Given the description of an element on the screen output the (x, y) to click on. 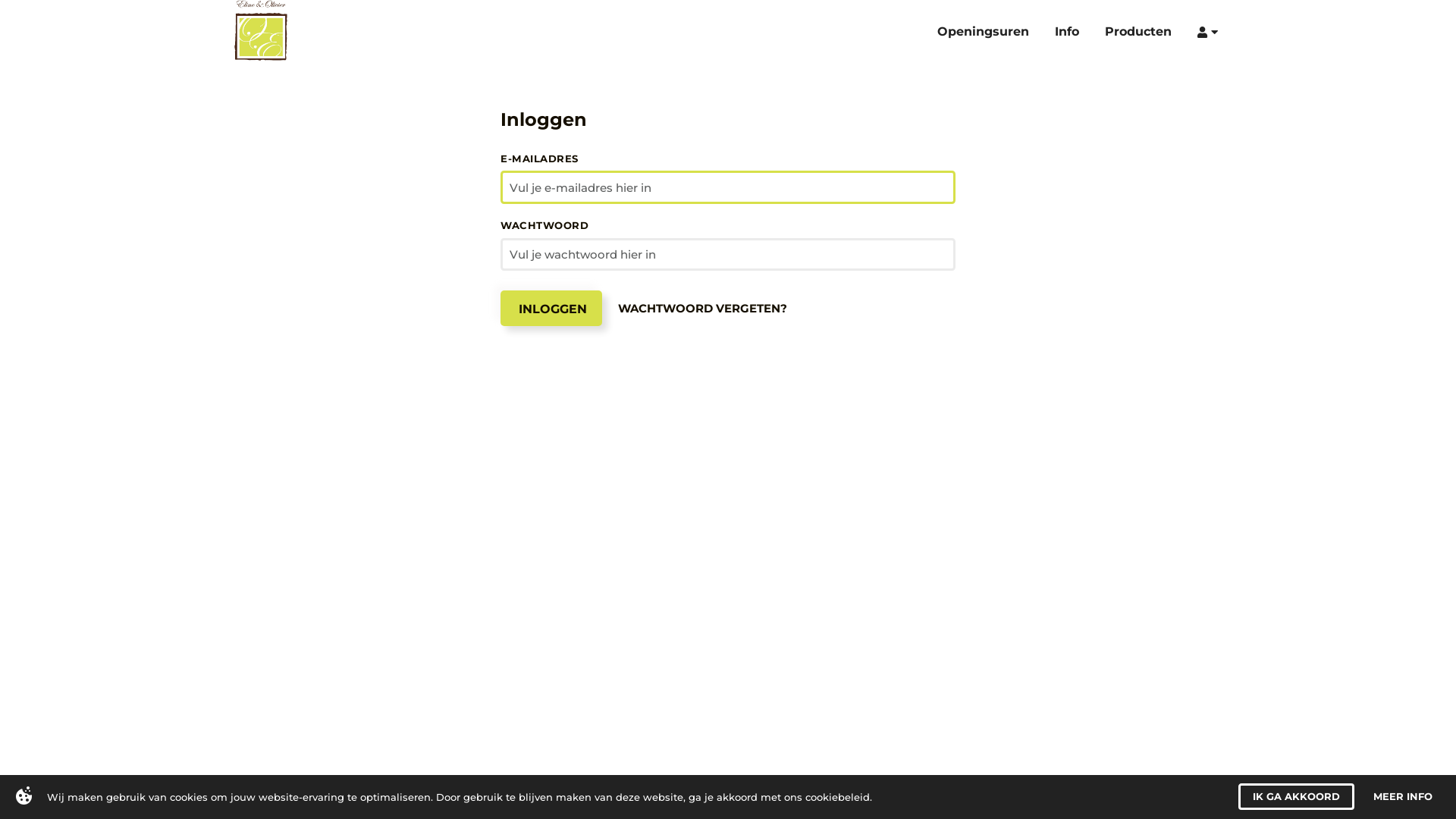
MEER INFO Element type: text (1402, 796)
Info Element type: text (1075, 30)
IK GA AKKOORD Element type: text (1296, 796)
INLOGGEN Element type: text (551, 303)
Openingsuren Element type: text (991, 30)
Producten Element type: text (1146, 30)
WACHTWOORD VERGETEN? Element type: text (702, 303)
